Given the description of an element on the screen output the (x, y) to click on. 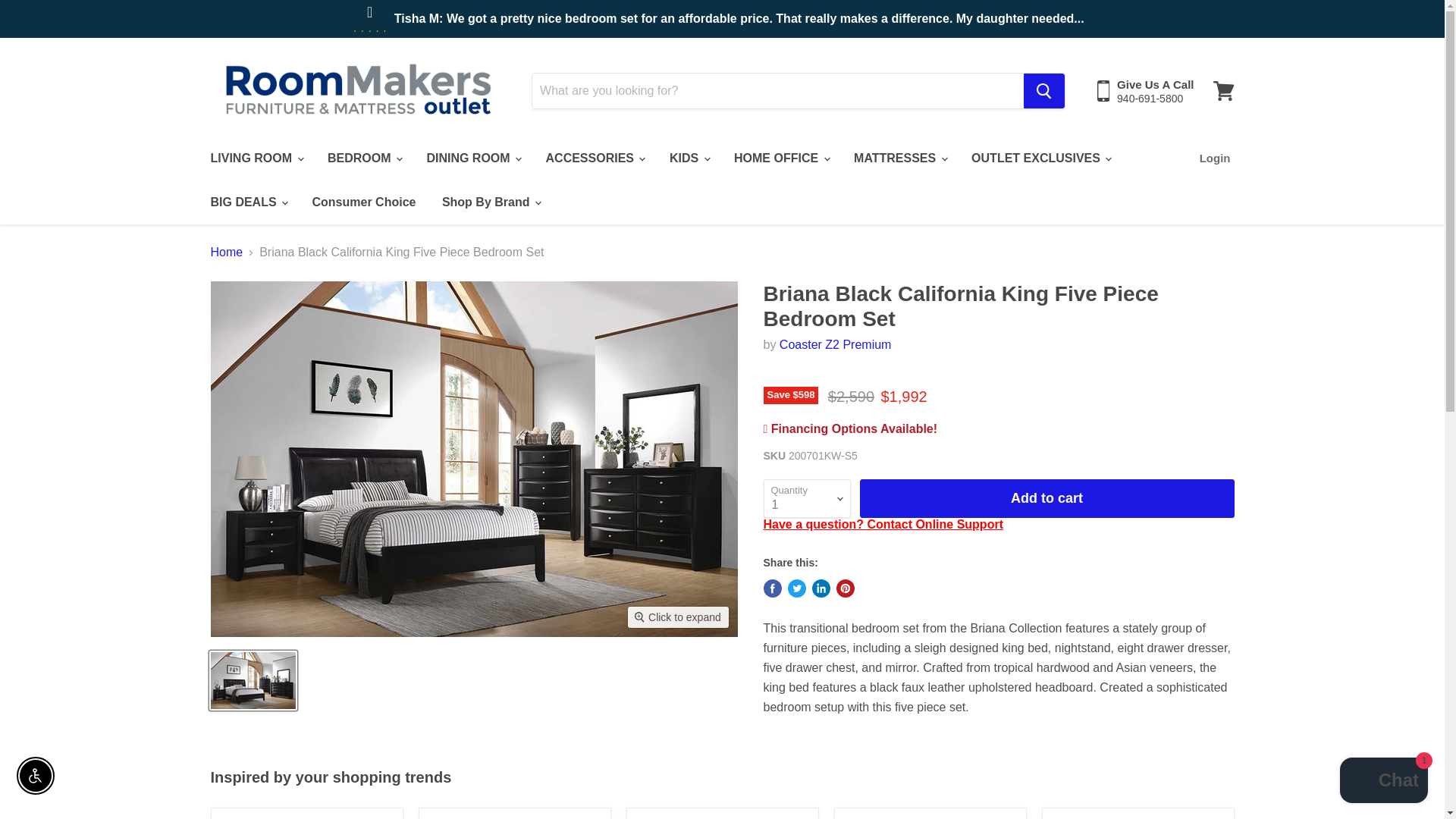
LIVING ROOM (255, 158)
View cart (1223, 90)
Coaster Z2 Premium (834, 344)
